Given the description of an element on the screen output the (x, y) to click on. 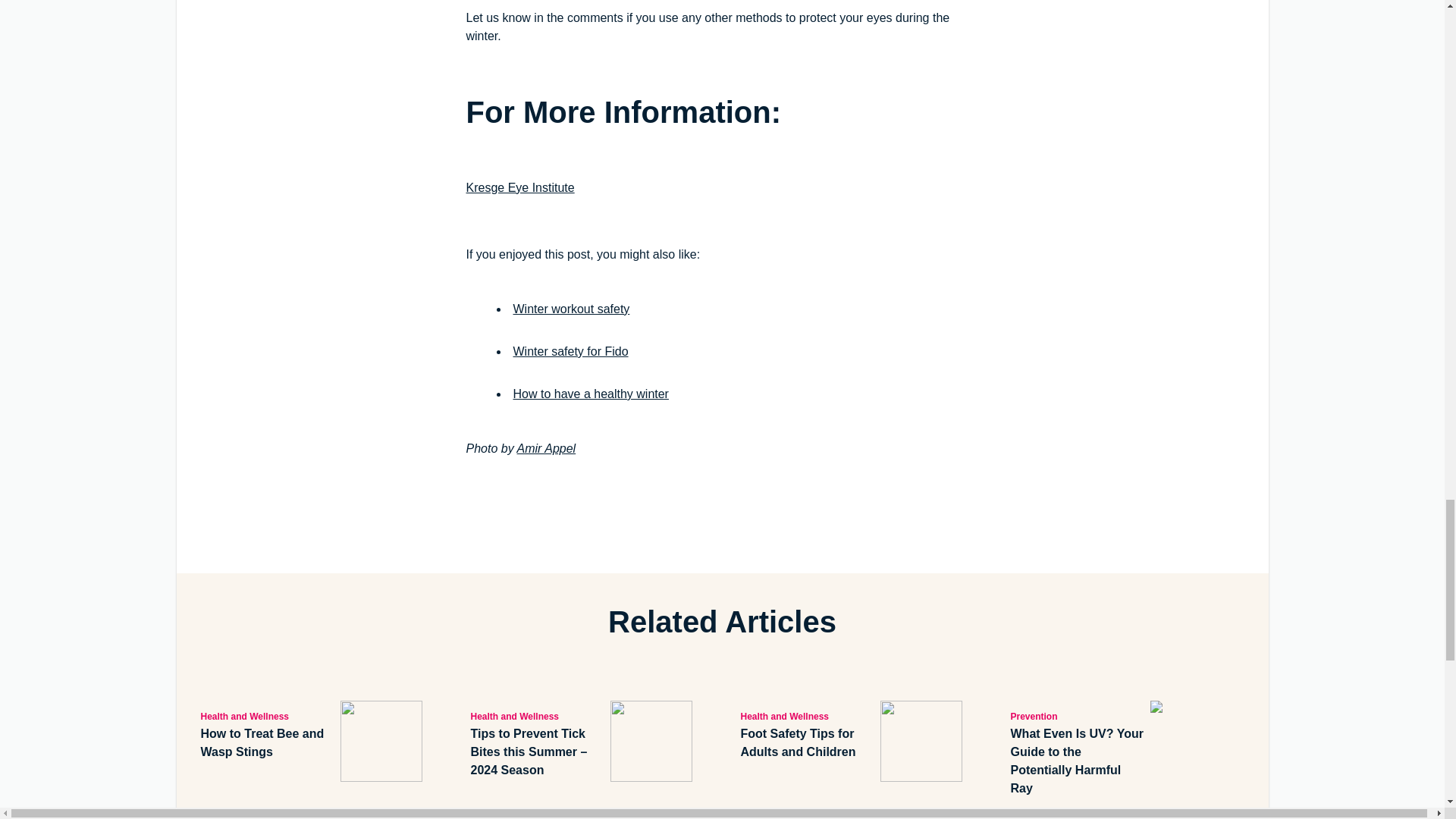
What Even Is UV? Your Guide to the Potentially Harmful Ray (1077, 760)
Foot Safety Tips for Adults and Children (807, 742)
Winter workout safety (570, 308)
Prevention (1077, 715)
Winter safety for Fido (569, 350)
How to Treat Bee and Wasp Stings (267, 742)
Kresge Eye Institute (519, 187)
Health and Wellness (267, 715)
Health and Wellness (807, 715)
Amir Appel (546, 448)
Health and Wellness (537, 715)
How to have a healthy winter (590, 393)
